Given the description of an element on the screen output the (x, y) to click on. 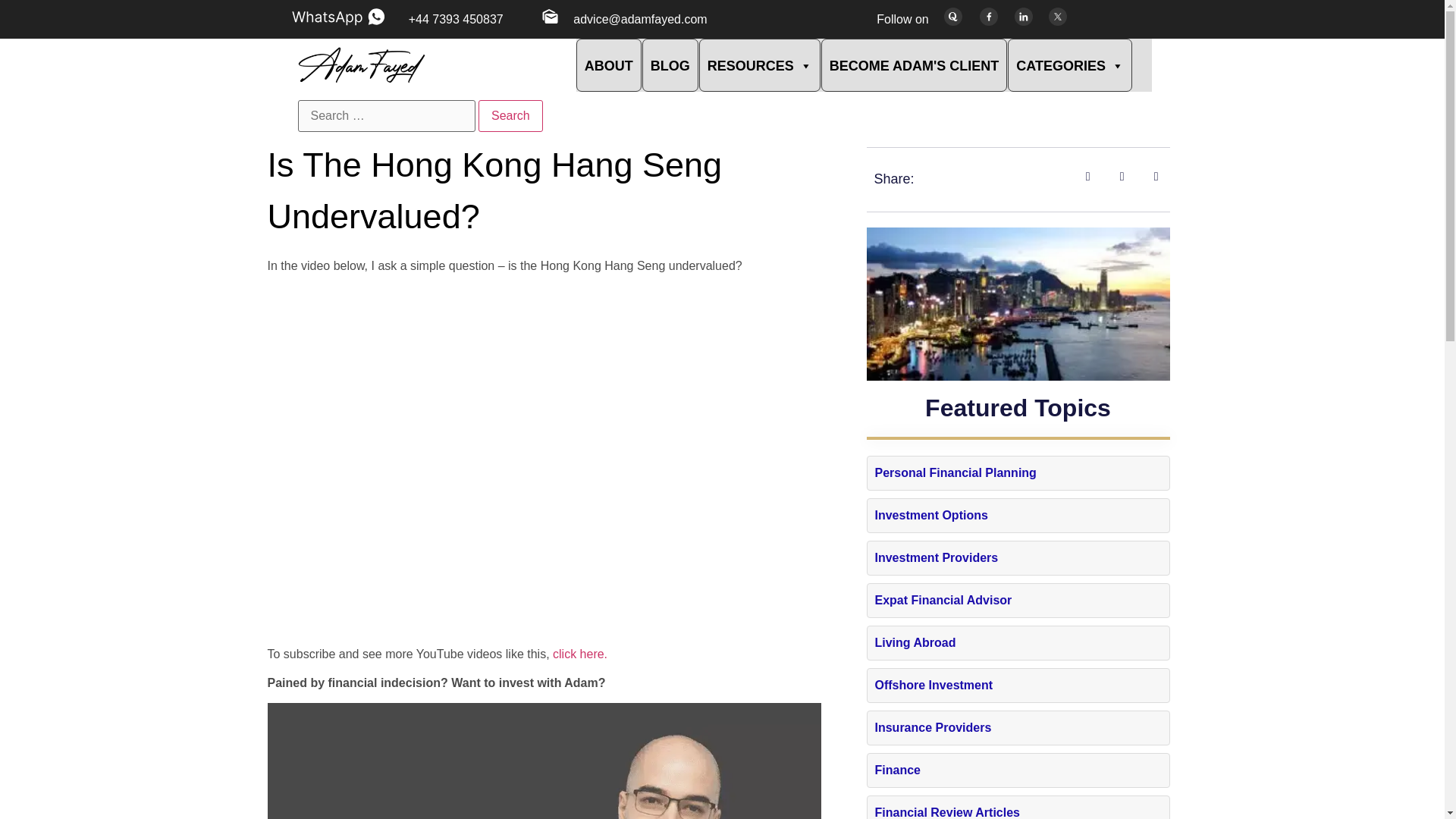
Is the Hong Kong Hang Seng undervalued? 1 (543, 760)
Search (511, 115)
ABOUT (609, 64)
CATEGORIES (1069, 64)
BECOME ADAM'S CLIENT (914, 64)
Search (511, 115)
click here. (578, 653)
RESOURCES (759, 64)
Search (511, 115)
